Given the description of an element on the screen output the (x, y) to click on. 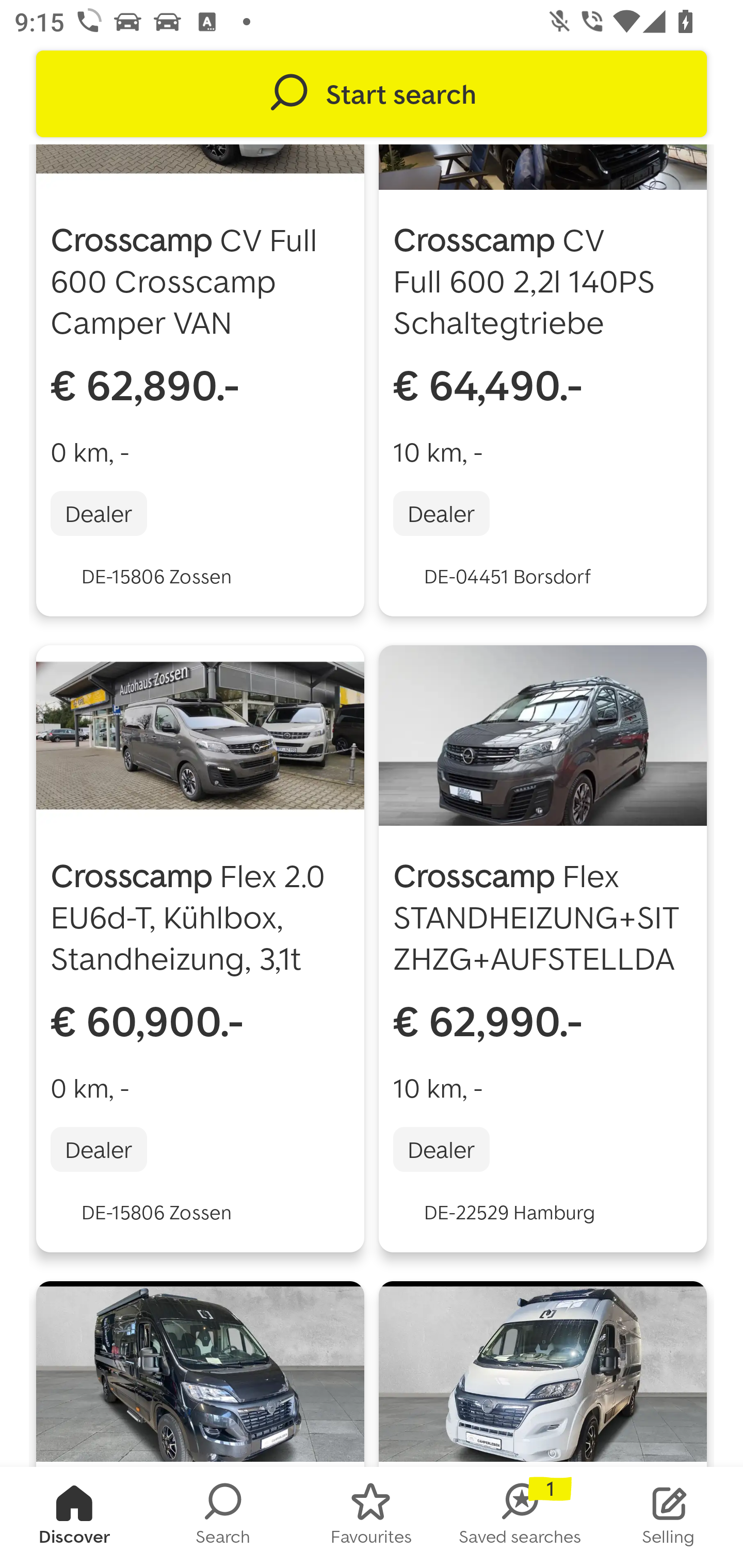
Start search (371, 93)
HOMESCREEN Discover (74, 1517)
SEARCH Search (222, 1517)
FAVORITES Favourites (371, 1517)
SAVED_SEARCHES Saved searches 1 (519, 1517)
STOCK_LIST Selling (668, 1517)
